Given the description of an element on the screen output the (x, y) to click on. 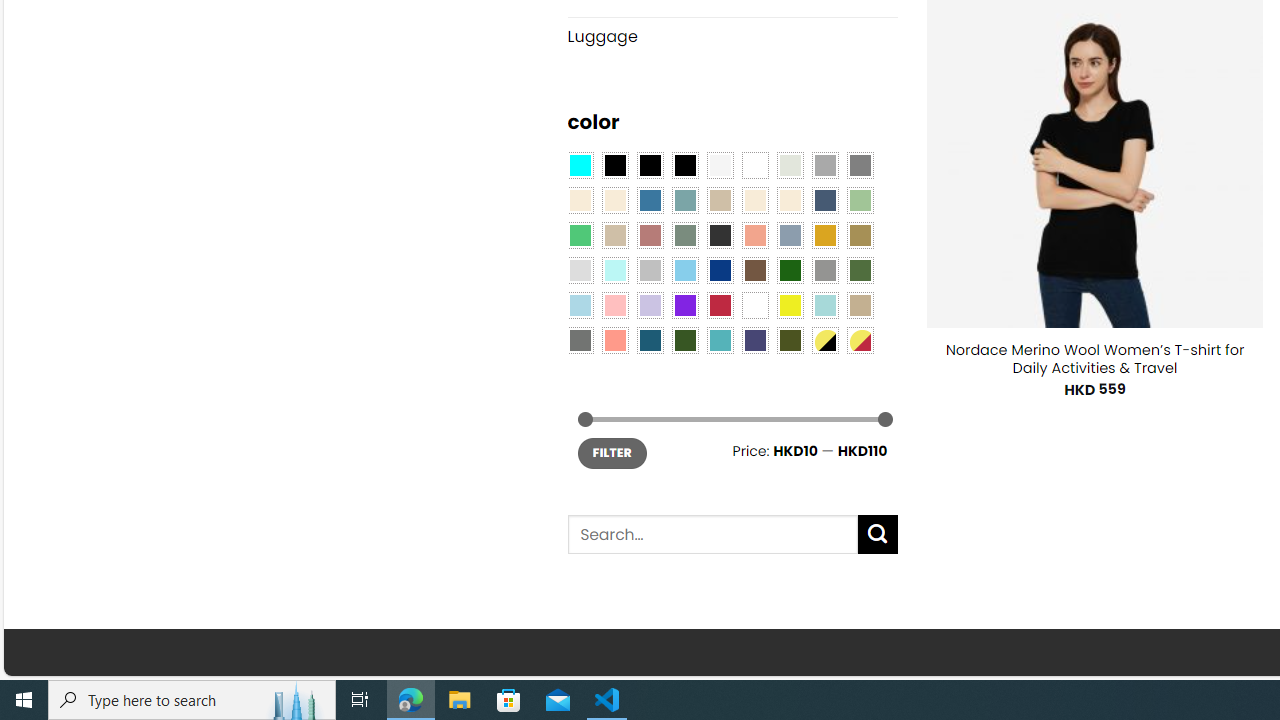
Light Taupe (614, 234)
FILTER (612, 452)
Gray (824, 269)
Yellow (789, 305)
Forest (684, 339)
Mint (614, 269)
Beige-Brown (614, 200)
Coral (755, 234)
Blue Sage (684, 200)
Peach Pink (614, 339)
All Black (614, 164)
Dull Nickle (579, 339)
Emerald Green (579, 234)
Gold (824, 234)
Teal (719, 339)
